Given the description of an element on the screen output the (x, y) to click on. 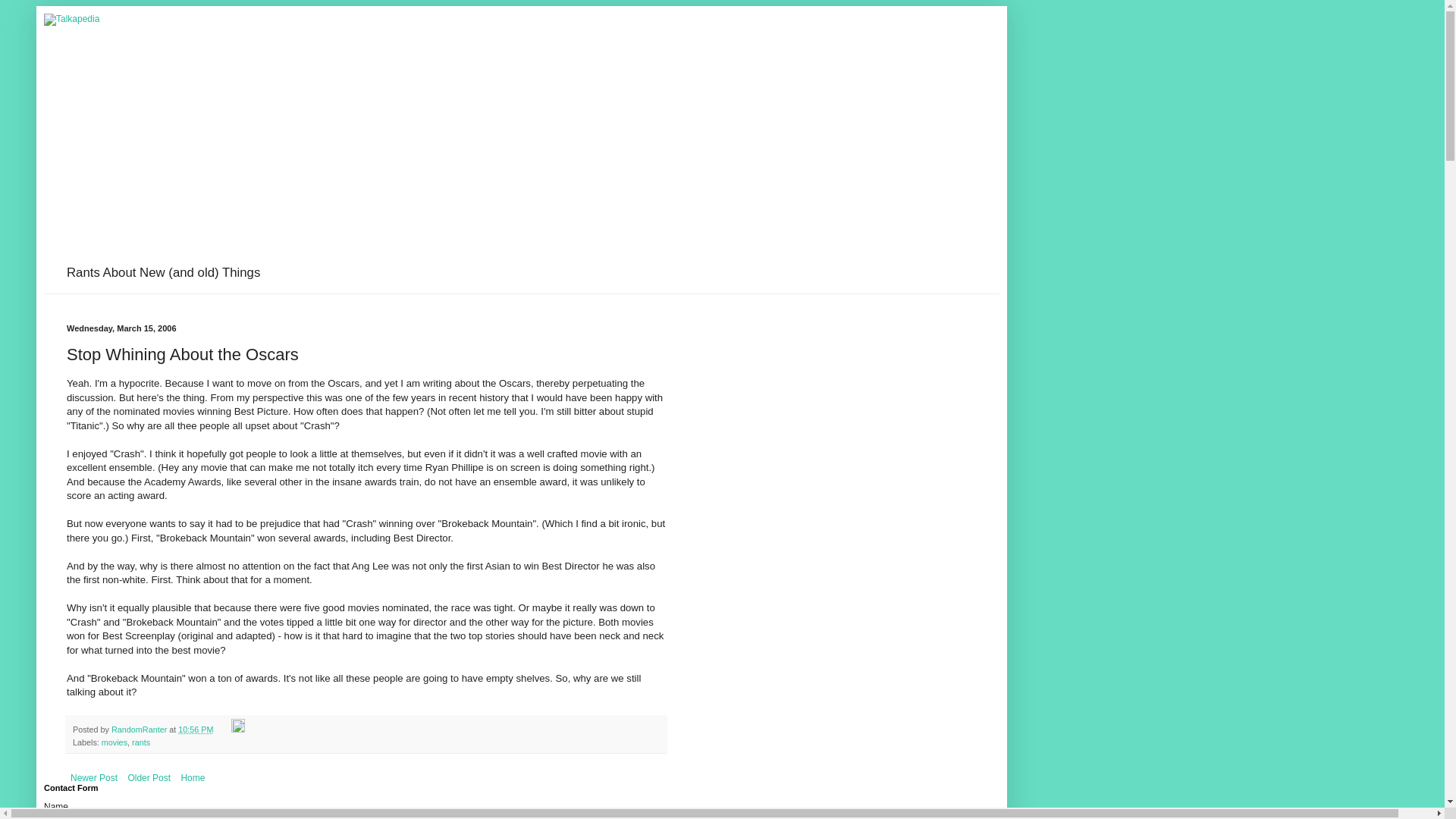
Home (192, 778)
10:56 PM (194, 728)
Older Post (148, 778)
permanent link (194, 728)
Older Post (148, 778)
RandomRanter (140, 728)
author profile (140, 728)
movies (114, 741)
Edit Post (237, 728)
Newer Post (93, 778)
Newer Post (93, 778)
Email Post (223, 728)
rants (140, 741)
